Given the description of an element on the screen output the (x, y) to click on. 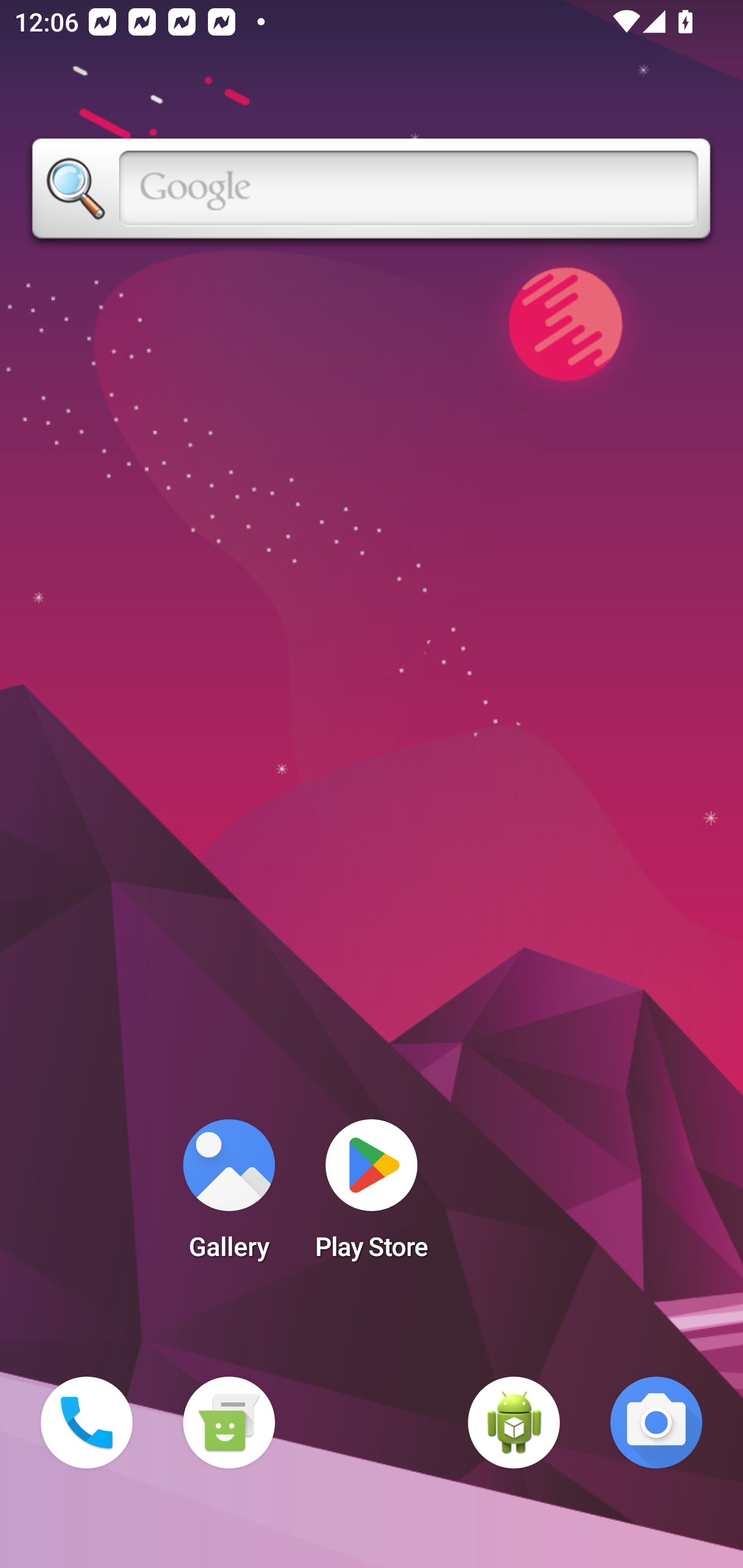
Gallery (228, 1195)
Play Store (371, 1195)
Phone (86, 1422)
Messaging (228, 1422)
WebView Browser Tester (513, 1422)
Camera (656, 1422)
